Given the description of an element on the screen output the (x, y) to click on. 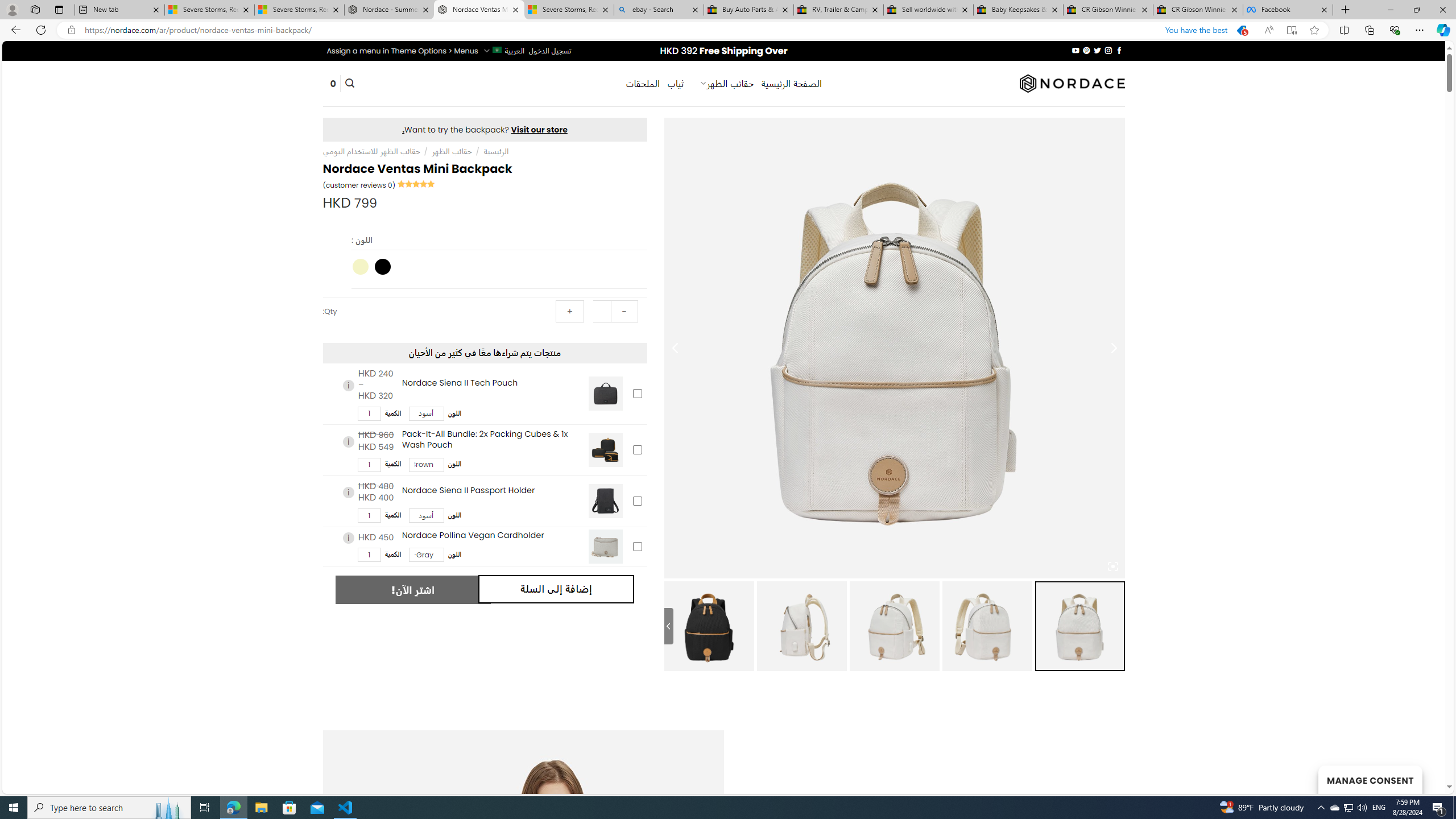
You have the best price! (1241, 29)
Class: upsell-v2-product-upsell-variable-product-qty-select (368, 554)
MANAGE CONSENT (1369, 779)
  0 (333, 83)
Assign a menu in Theme Options > Menus (402, 50)
Visit our store. (484, 129)
